Given the description of an element on the screen output the (x, y) to click on. 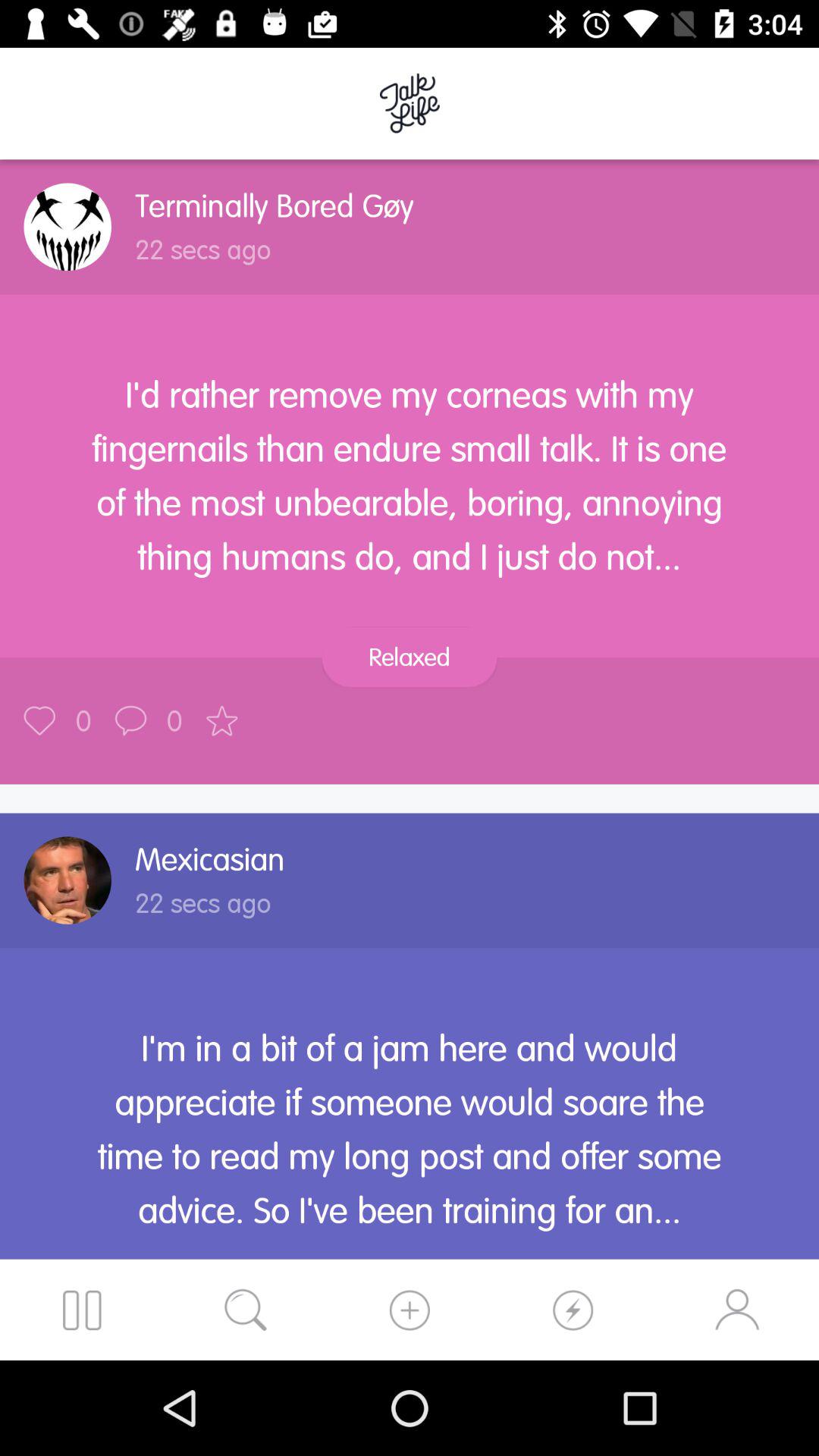
click icon above the 22 secs ago icon (209, 859)
